Given the description of an element on the screen output the (x, y) to click on. 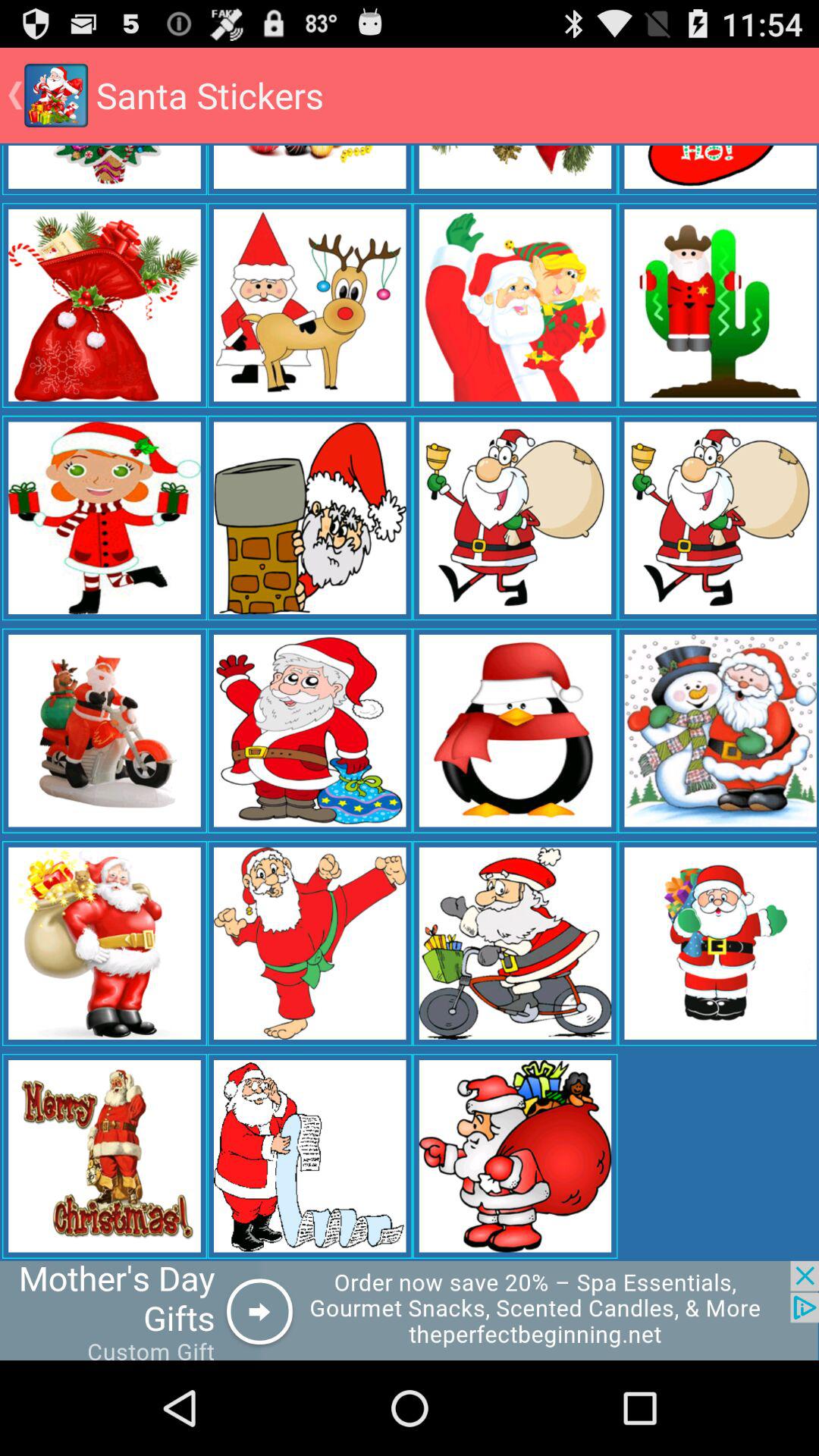
click advertisement banner (409, 1310)
